Given the description of an element on the screen output the (x, y) to click on. 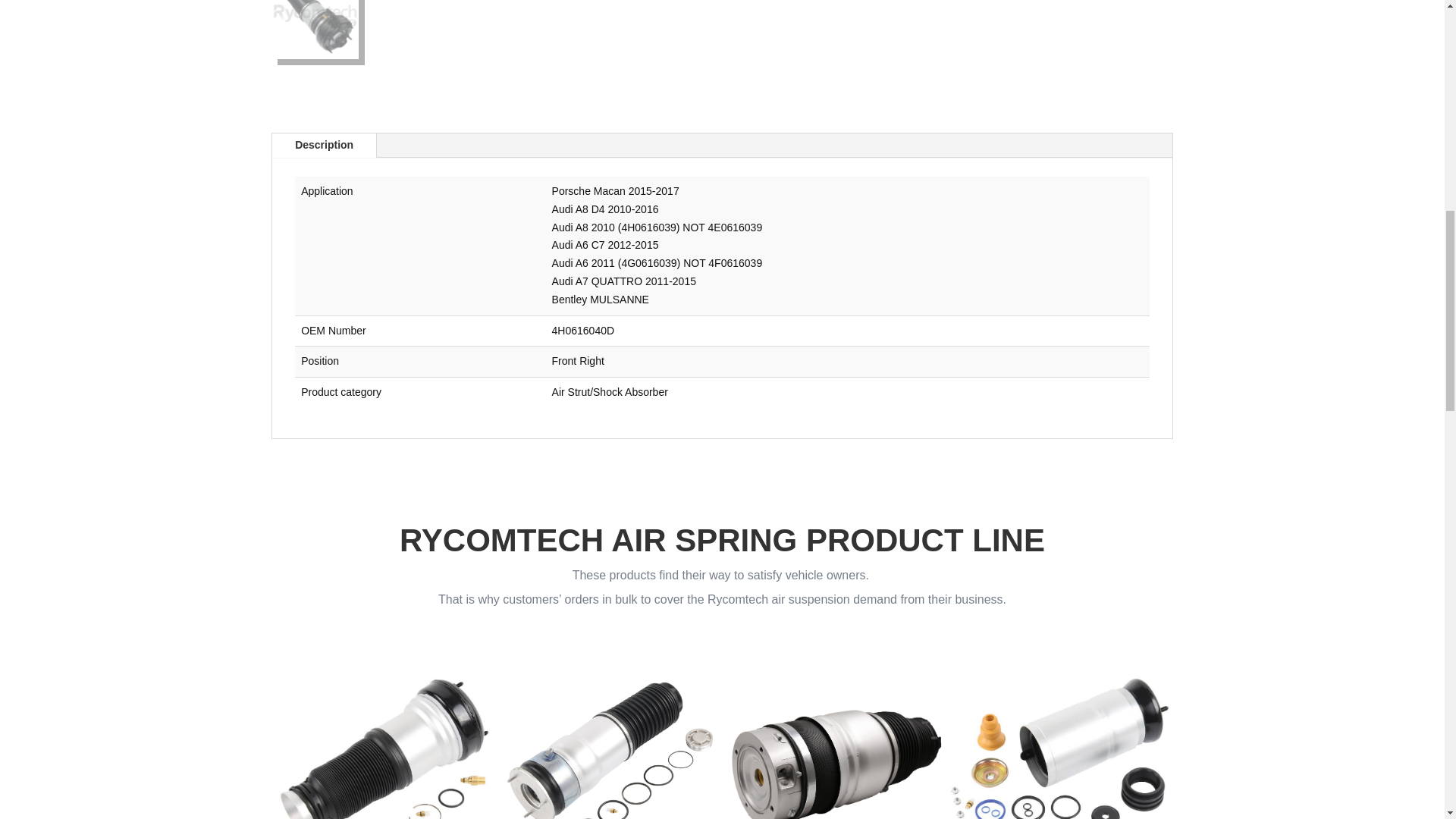
BMW (609, 734)
